Given the description of an element on the screen output the (x, y) to click on. 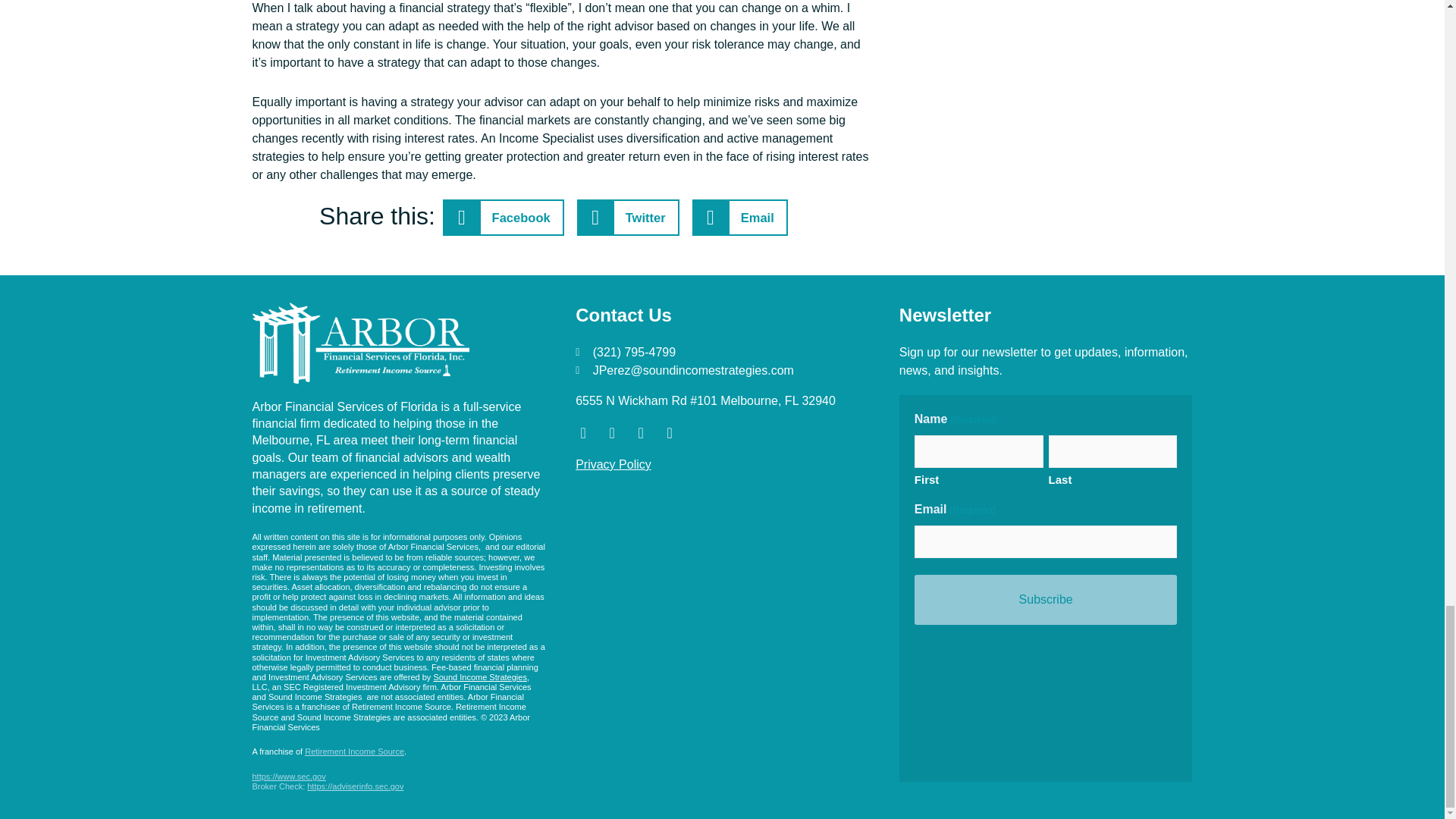
Subscribe (1045, 599)
